Given the description of an element on the screen output the (x, y) to click on. 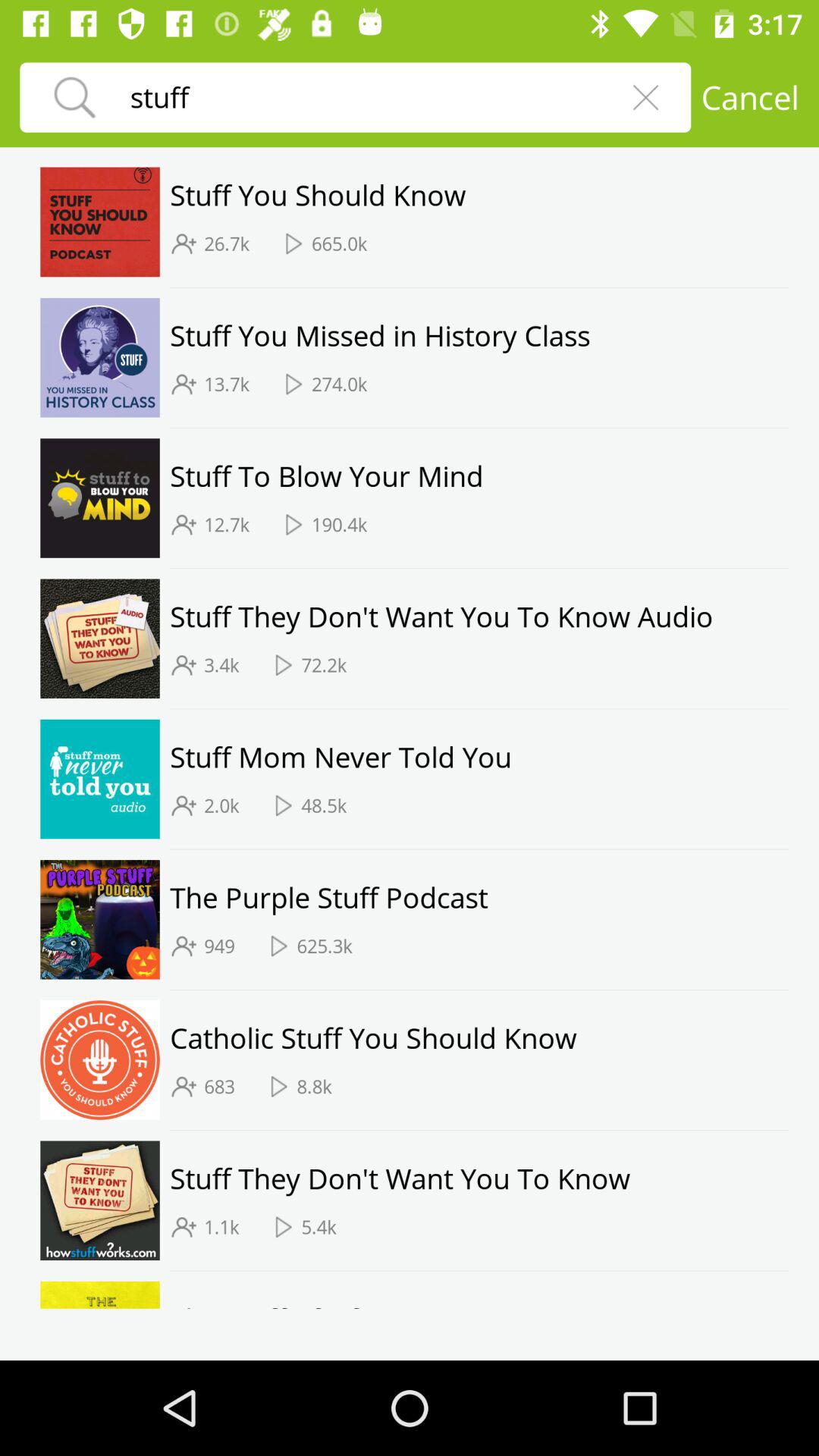
select the 949 icon (219, 945)
